Given the description of an element on the screen output the (x, y) to click on. 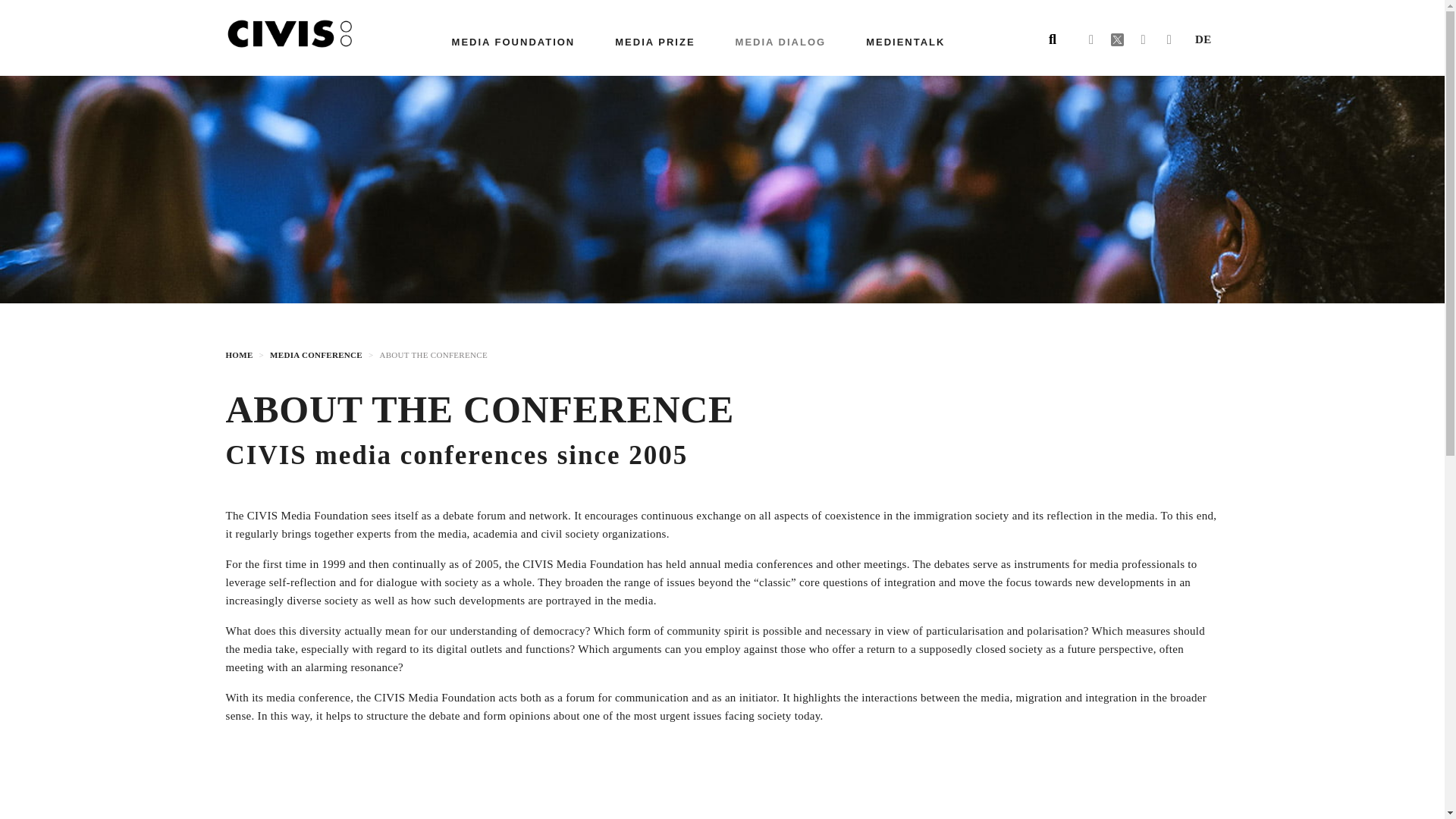
MEDIA PRIZE (654, 42)
MEDIA FOUNDATION (513, 42)
DE (1202, 39)
